Given the description of an element on the screen output the (x, y) to click on. 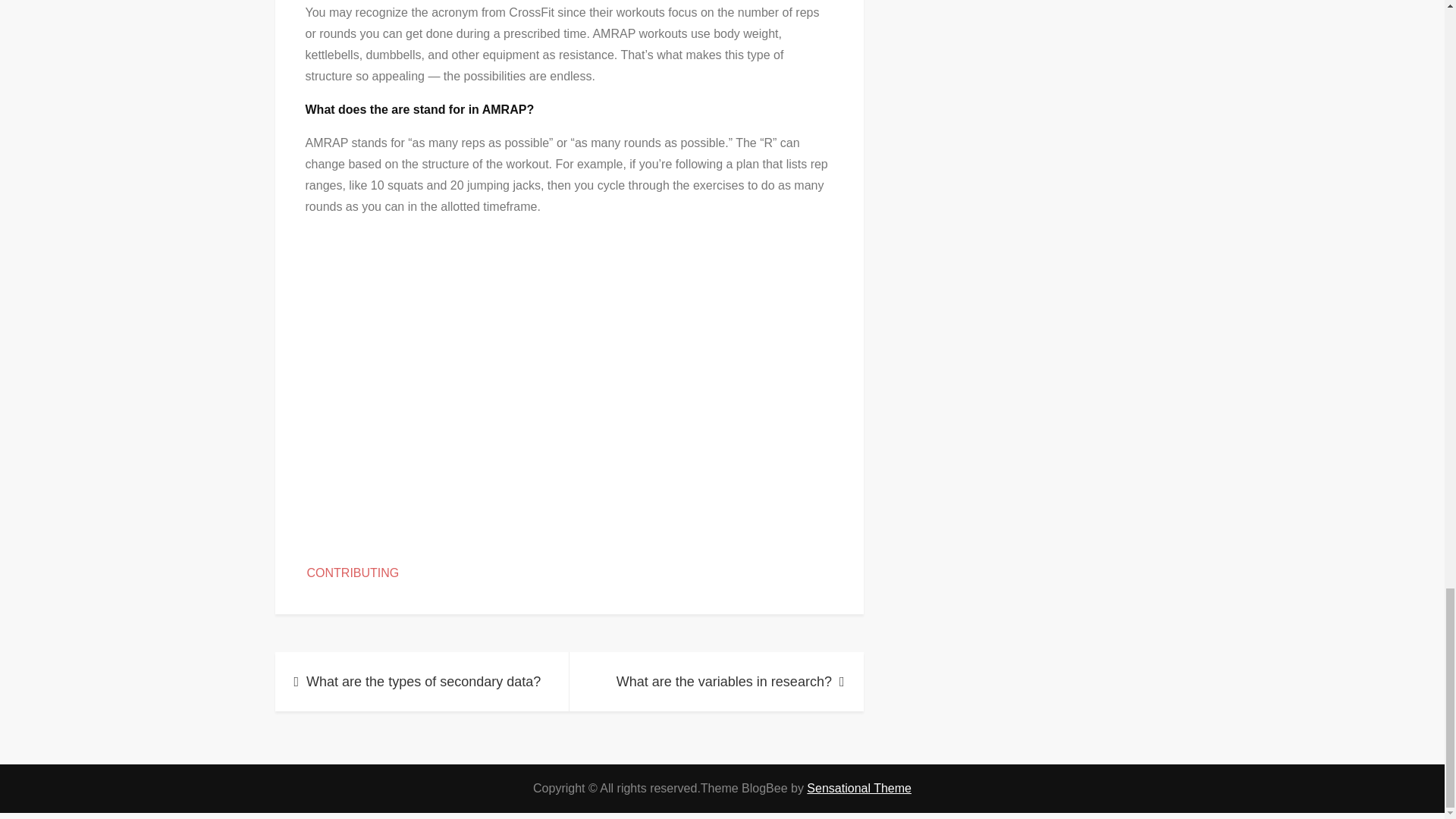
What are the types of secondary data? (422, 681)
Sensational Theme (858, 788)
What are the variables in research? (716, 681)
CONTRIBUTING (352, 572)
